Given the description of an element on the screen output the (x, y) to click on. 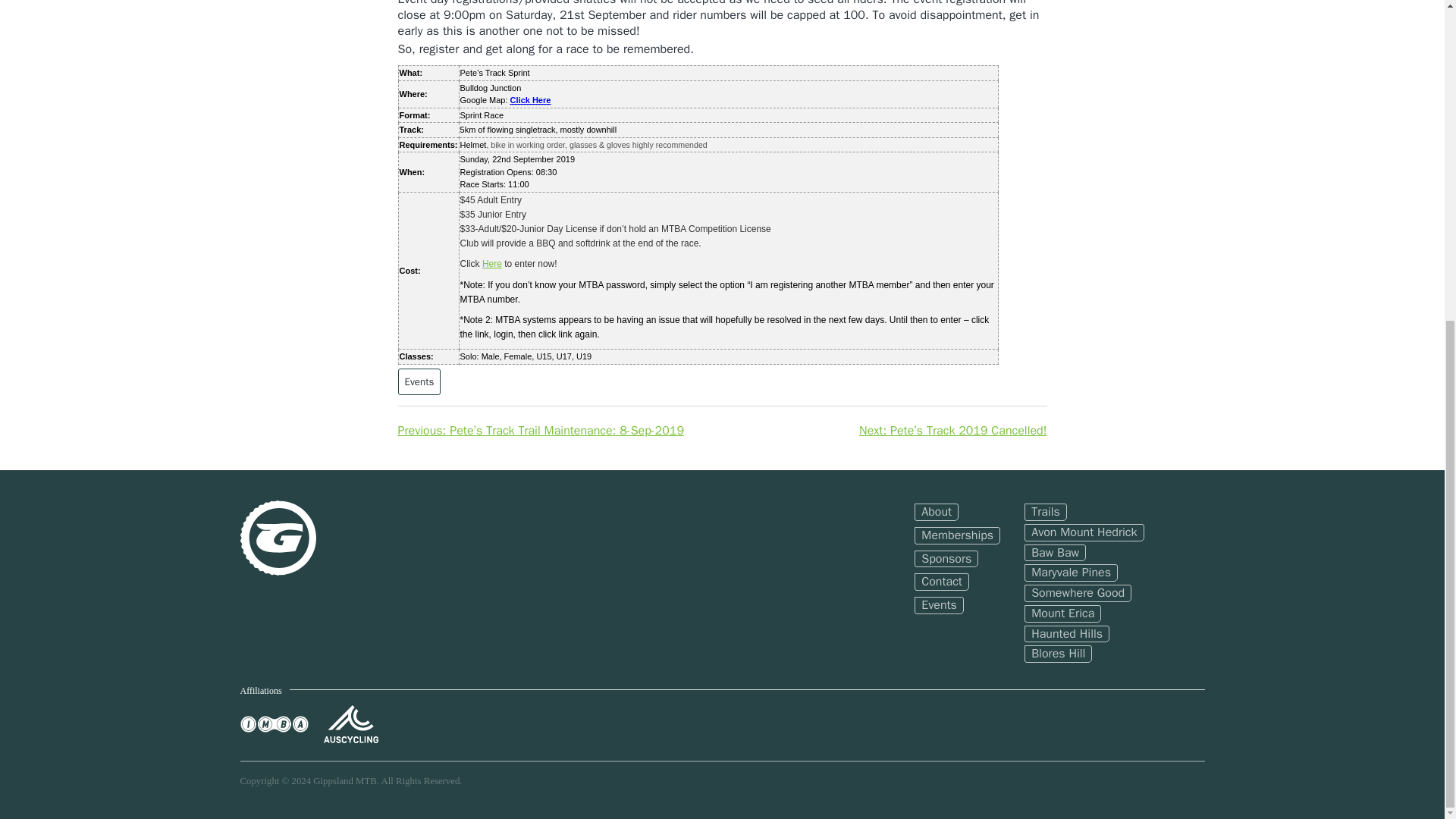
Sponsors (946, 558)
Maryvale Pines (1071, 572)
Blores Hill (1058, 653)
Trails (1046, 511)
Somewhere Good (1078, 592)
Events (938, 605)
Avon Mount Hedrick (1083, 532)
Events (419, 381)
Click Here (531, 100)
Mount Erica (1062, 613)
